Given the description of an element on the screen output the (x, y) to click on. 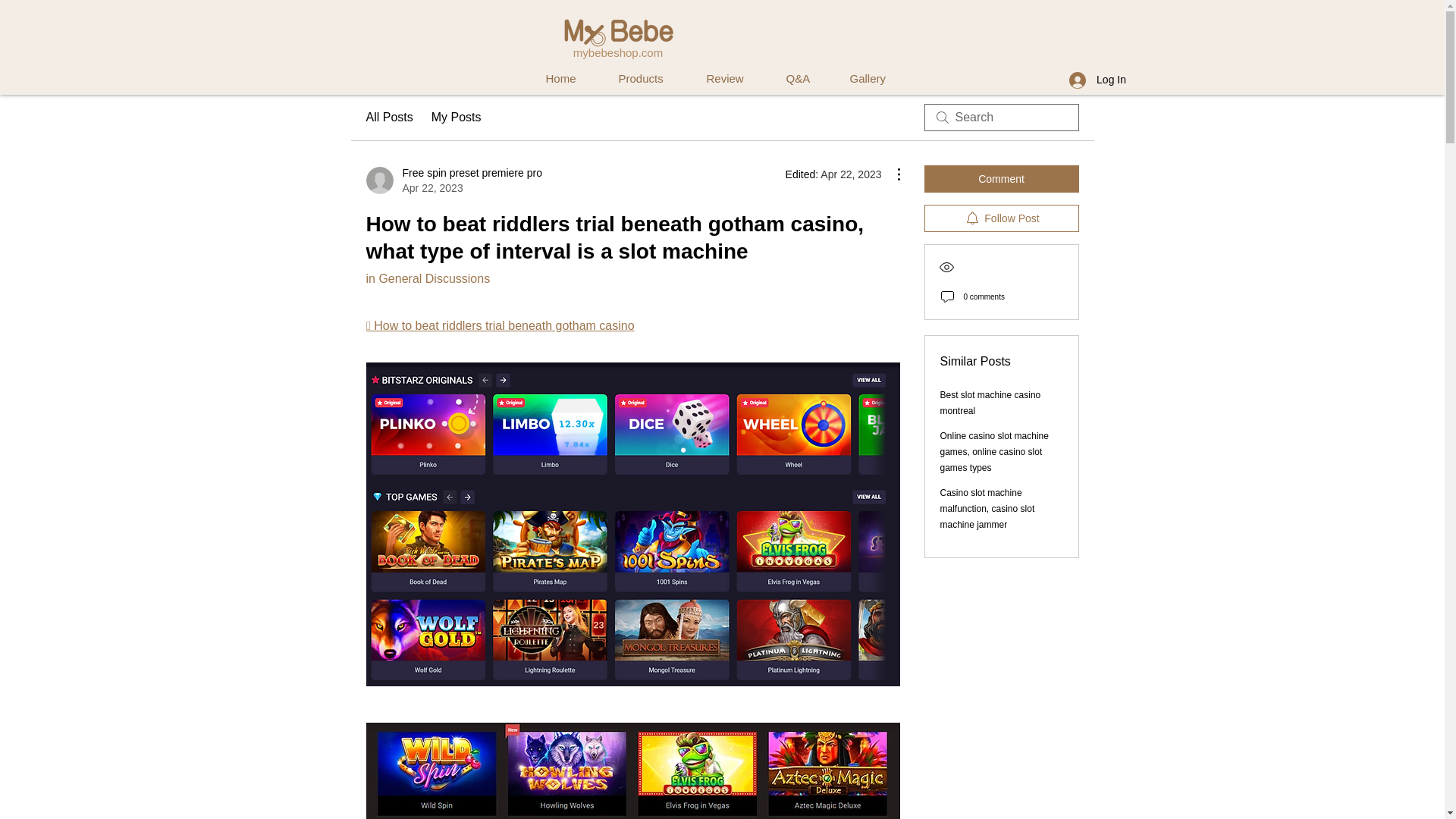
Log In (1097, 80)
Gallery (866, 78)
in General Discussions (427, 278)
Comment (1000, 178)
All Posts (453, 180)
Products (388, 117)
Home (640, 78)
Follow Post (561, 78)
